Given the description of an element on the screen output the (x, y) to click on. 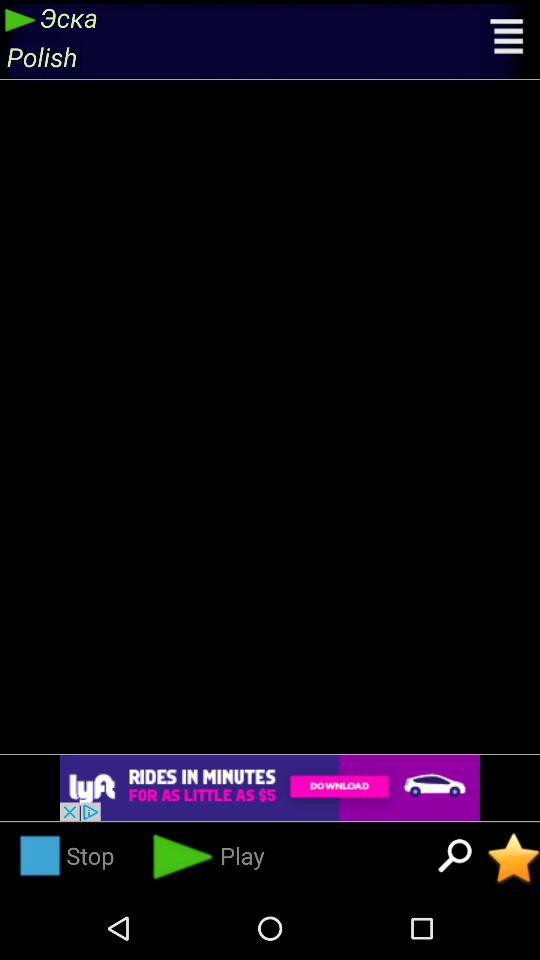
favorite the station (513, 858)
